Given the description of an element on the screen output the (x, y) to click on. 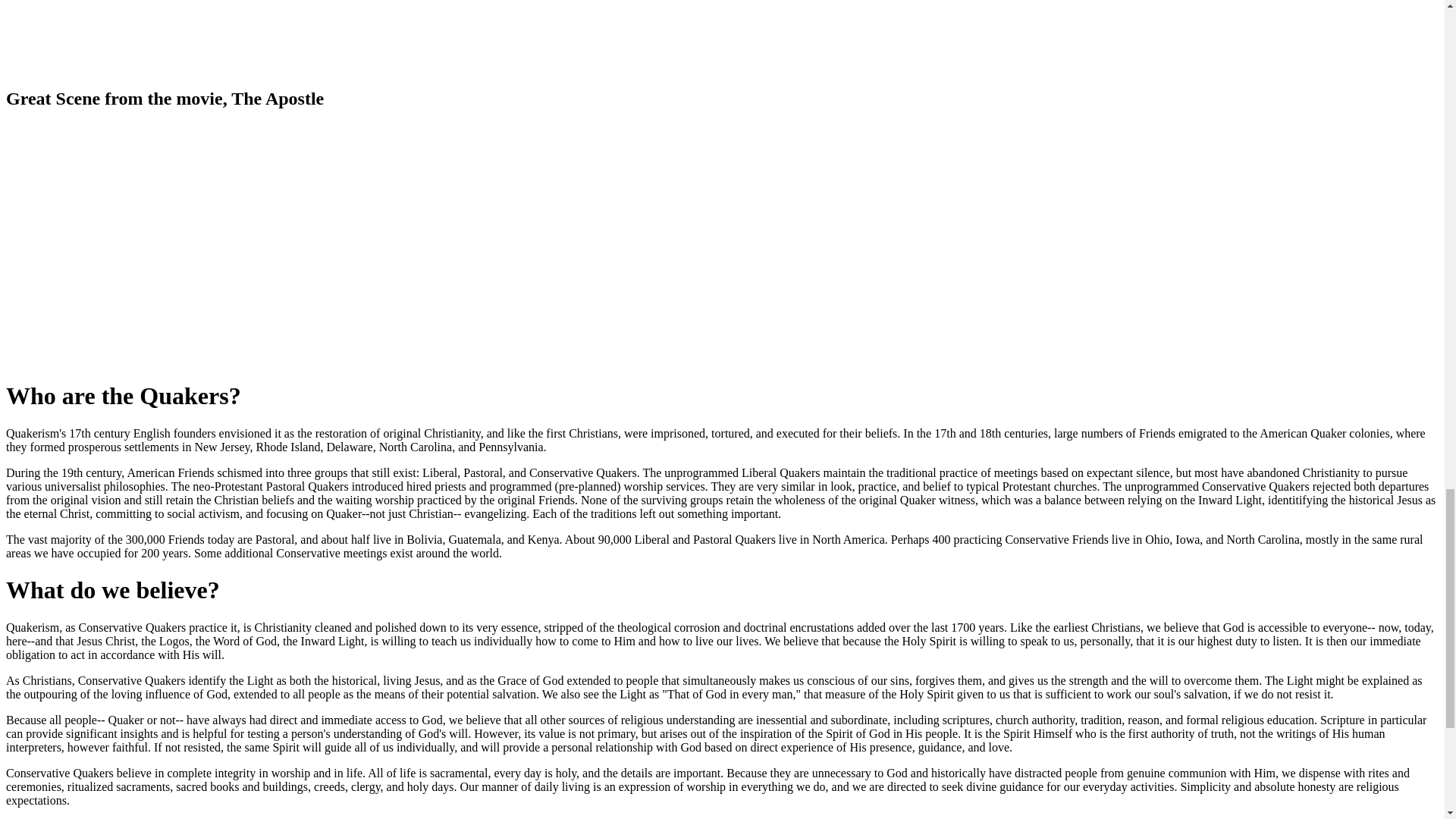
YouTube video player (217, 35)
YouTube video player (217, 243)
